Given the description of an element on the screen output the (x, y) to click on. 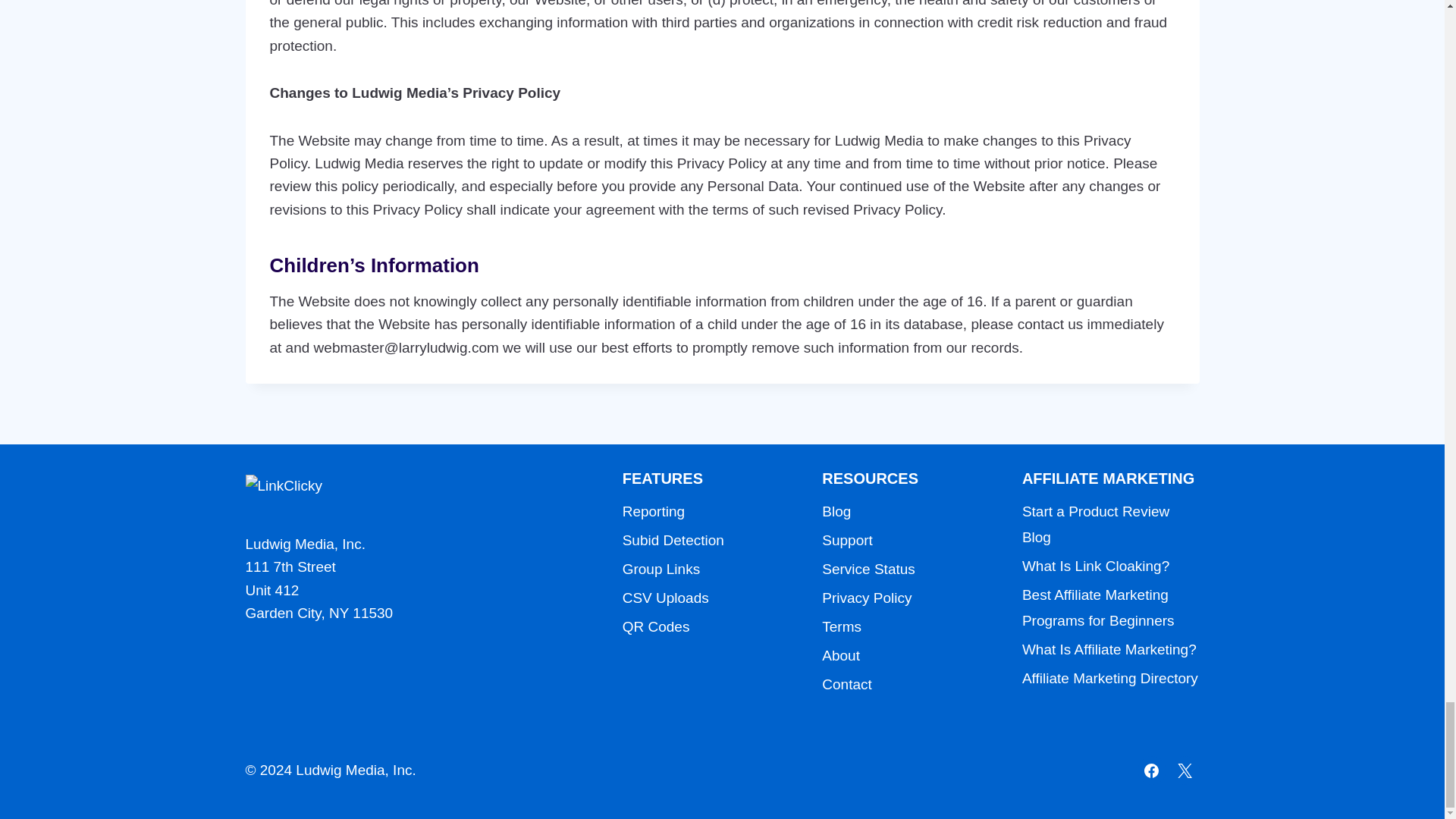
Blog (910, 511)
Service Status (910, 569)
Contact (910, 684)
Support (910, 540)
Subid Detection (711, 540)
CSV Uploads (711, 597)
Start a Product Review Blog (1110, 524)
Terms (910, 626)
About (910, 655)
What Is Link Cloaking? (1110, 566)
Group Links (711, 569)
Privacy Policy (910, 597)
Reporting (711, 511)
QR Codes (711, 626)
Best Affiliate Marketing Programs for Beginners (1110, 607)
